Given the description of an element on the screen output the (x, y) to click on. 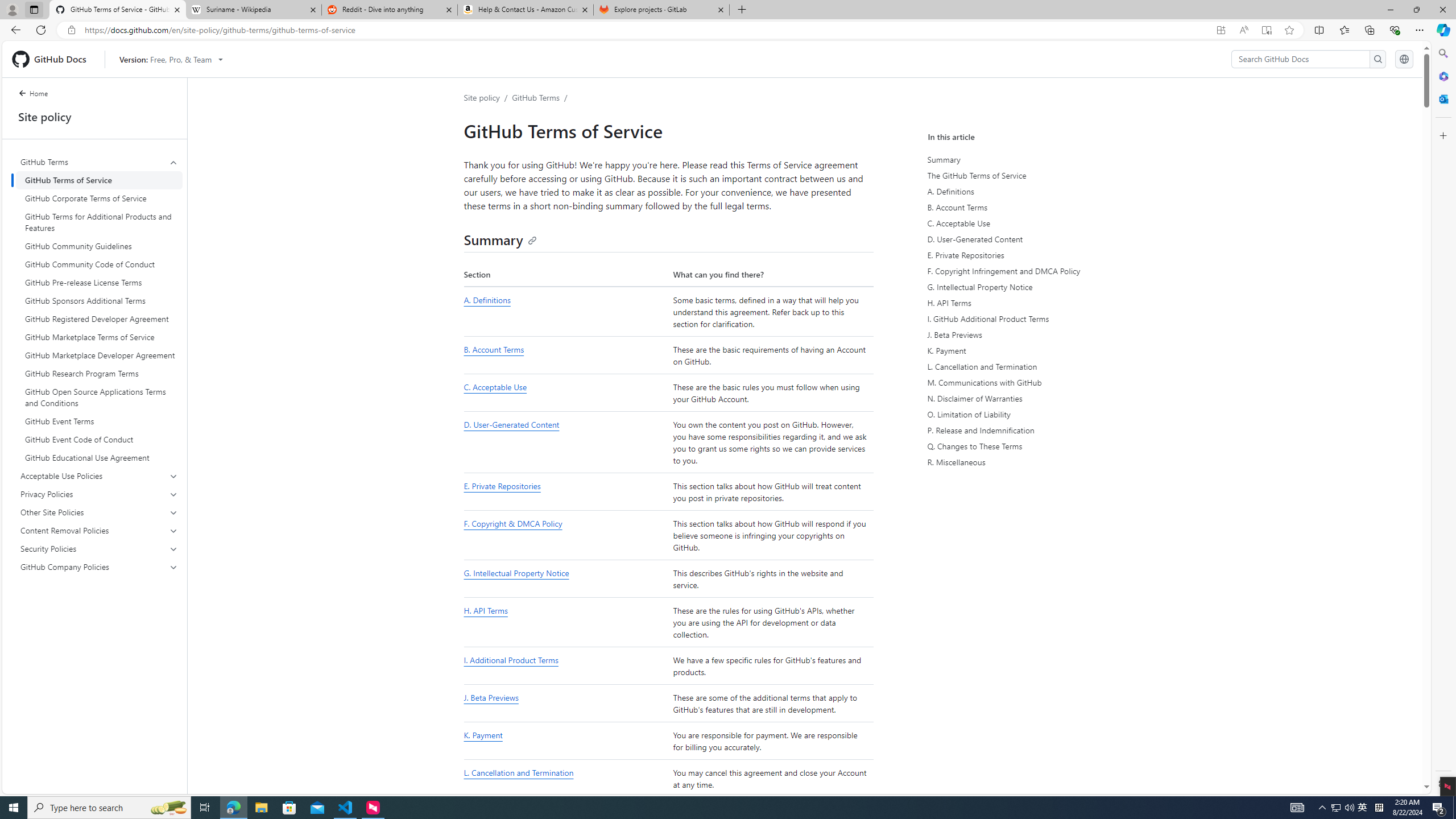
I. Additional Product Terms (565, 666)
GitHub Registered Developer Agreement (99, 318)
GitHub Sponsors Additional Terms (99, 300)
J. Beta Previews (1032, 334)
Other Site Policies (99, 512)
N. Disclaimer of Warranties (1032, 398)
F. Copyright & DMCA Policy (565, 536)
What can you find there? (770, 274)
E. Private Repositories (501, 486)
Section (565, 274)
K. Payment (482, 735)
